Given the description of an element on the screen output the (x, y) to click on. 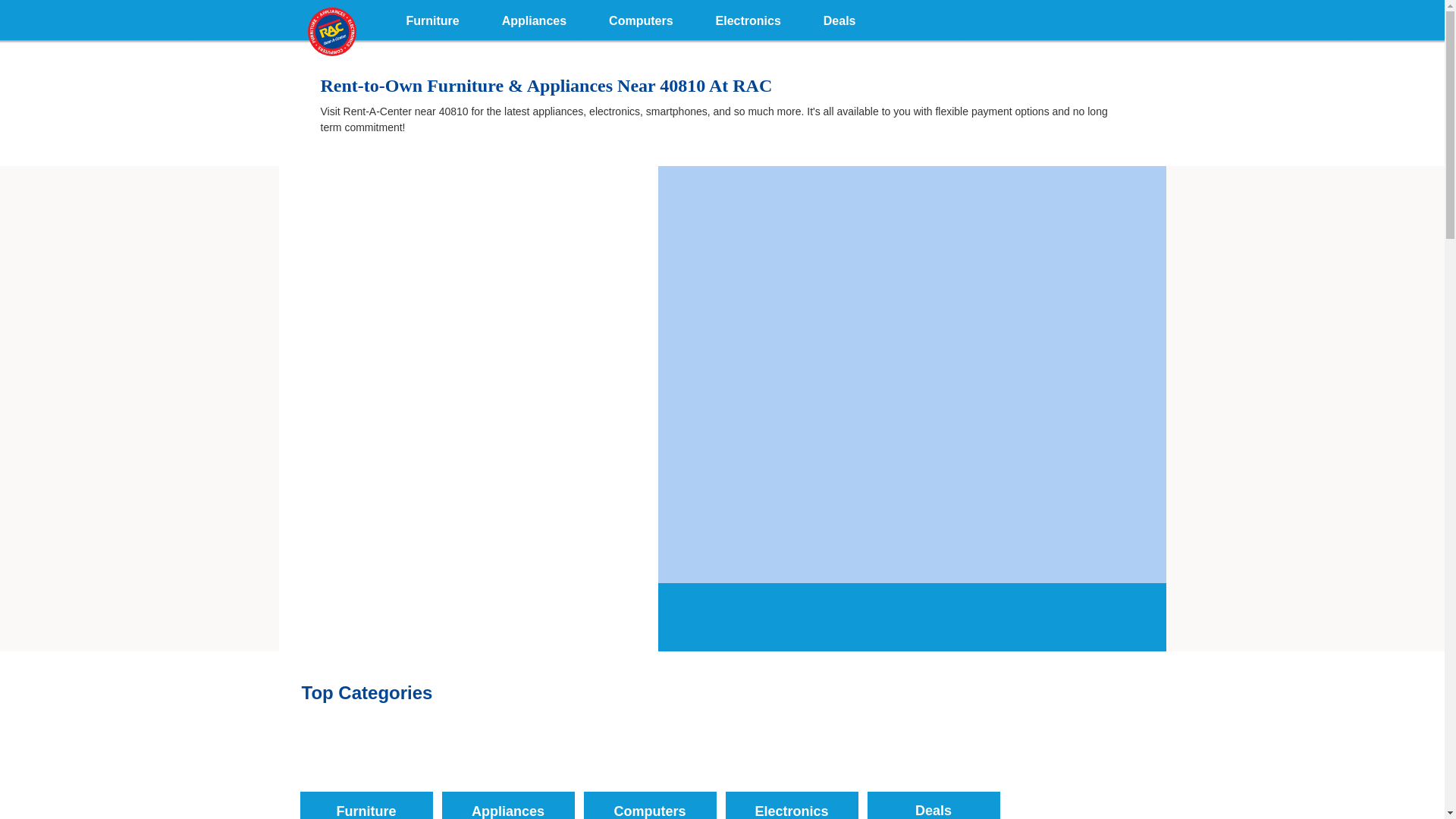
Computers (649, 771)
Electronics (748, 18)
Deals (839, 18)
Furniture (365, 771)
Appliances (534, 18)
Computers (641, 18)
Appliances (507, 771)
Electronics (791, 771)
Furniture (432, 18)
Deals (933, 771)
